Given the description of an element on the screen output the (x, y) to click on. 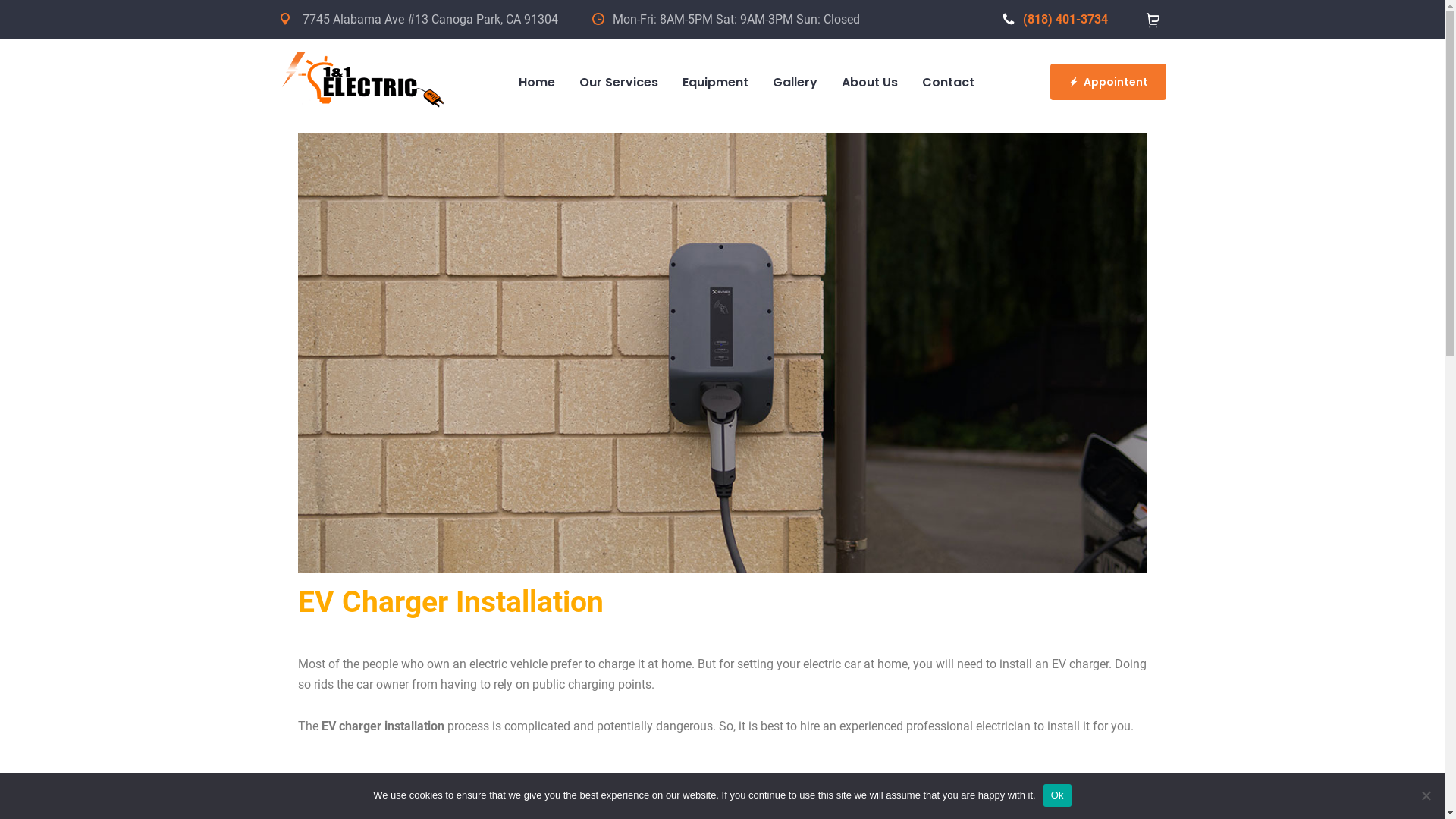
Ok Element type: text (1057, 795)
Appointent Element type: text (1107, 81)
(818) 401-3734 Element type: text (1054, 19)
No Element type: hover (1425, 795)
About Us Element type: text (869, 82)
Gallery Element type: text (794, 82)
Equipment Element type: text (715, 82)
Home Element type: text (536, 82)
Contact Element type: text (948, 82)
Our Services Element type: text (618, 82)
